Given the description of an element on the screen output the (x, y) to click on. 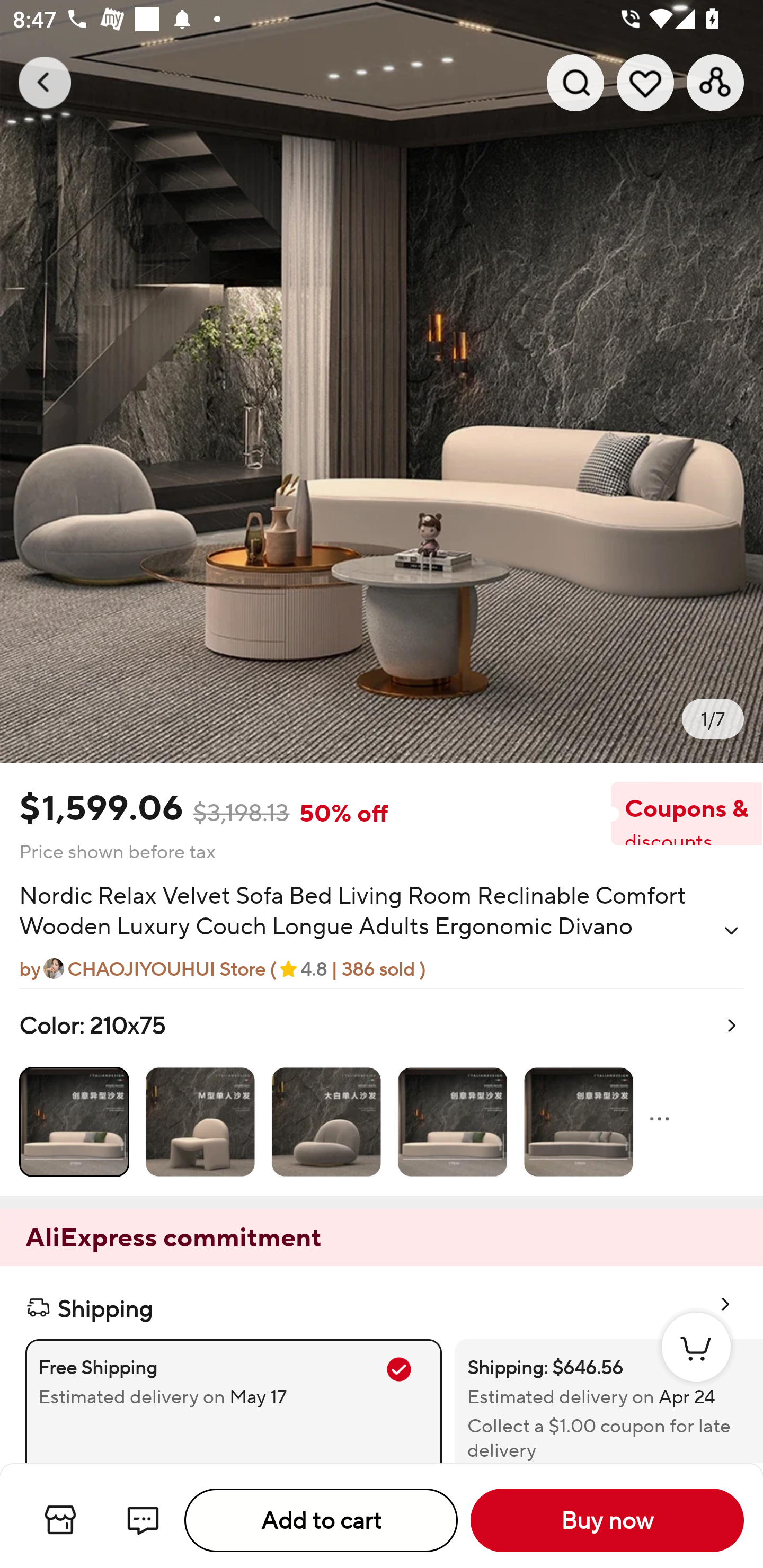
Navigate up (44, 82)
 (730, 930)
Color: 210x75  (381, 1092)
Free Shipping  Estimated delivery on May 17  (233, 1400)
Add to cart (320, 1520)
Buy now (606, 1520)
